Given the description of an element on the screen output the (x, y) to click on. 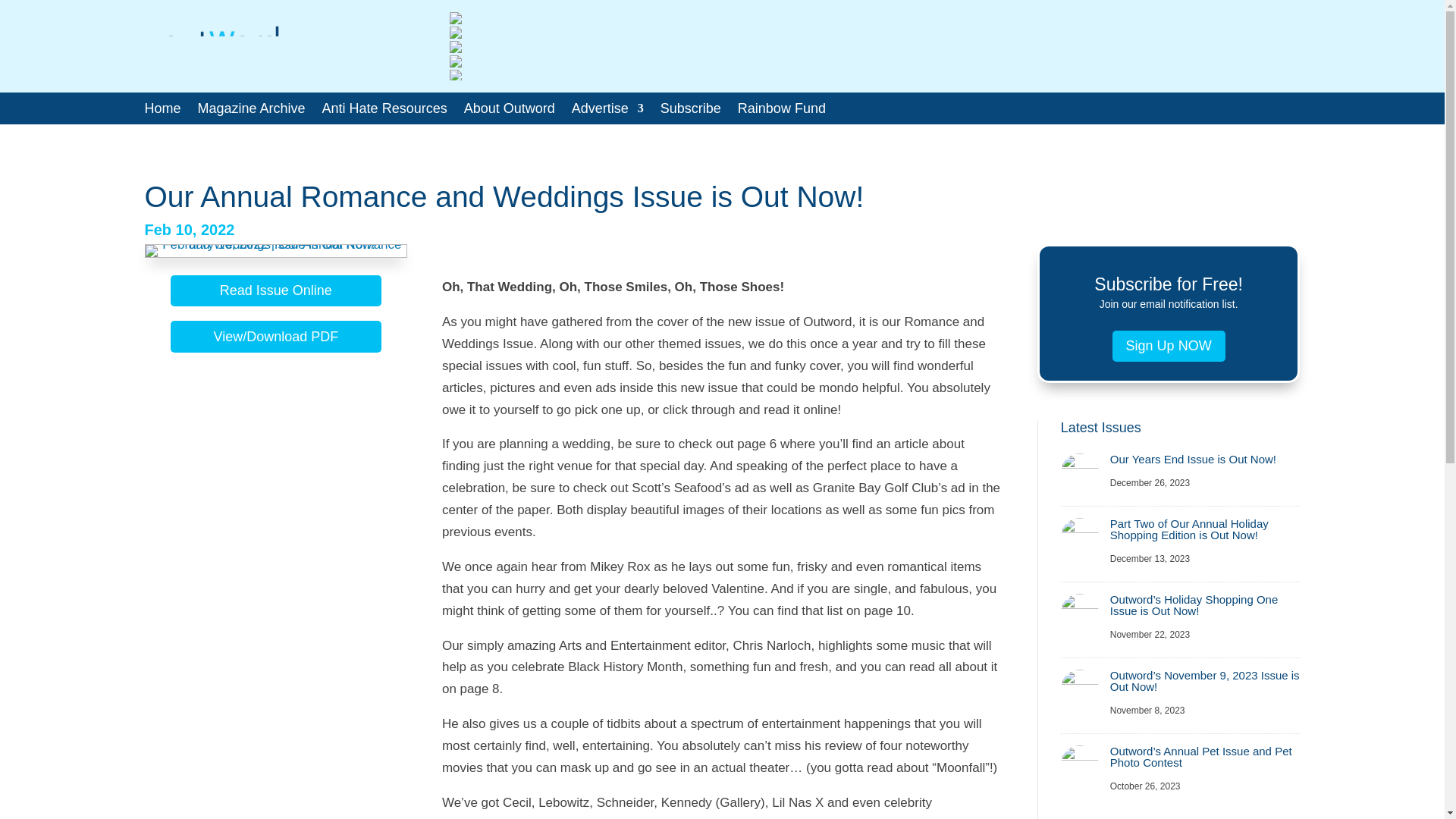
Sign Up NOW (1168, 345)
Outword-Logo-970 (219, 50)
Our Years End Issue is Out Now! (1192, 459)
Subscribe (690, 111)
Magazine Archive (251, 111)
Anti Hate Resources (383, 111)
Advertise (607, 111)
Rainbow Fund (781, 111)
Part Two of Our Annual Holiday Shopping Edition is Out Now! (1188, 528)
About Outword (509, 111)
